Given the description of an element on the screen output the (x, y) to click on. 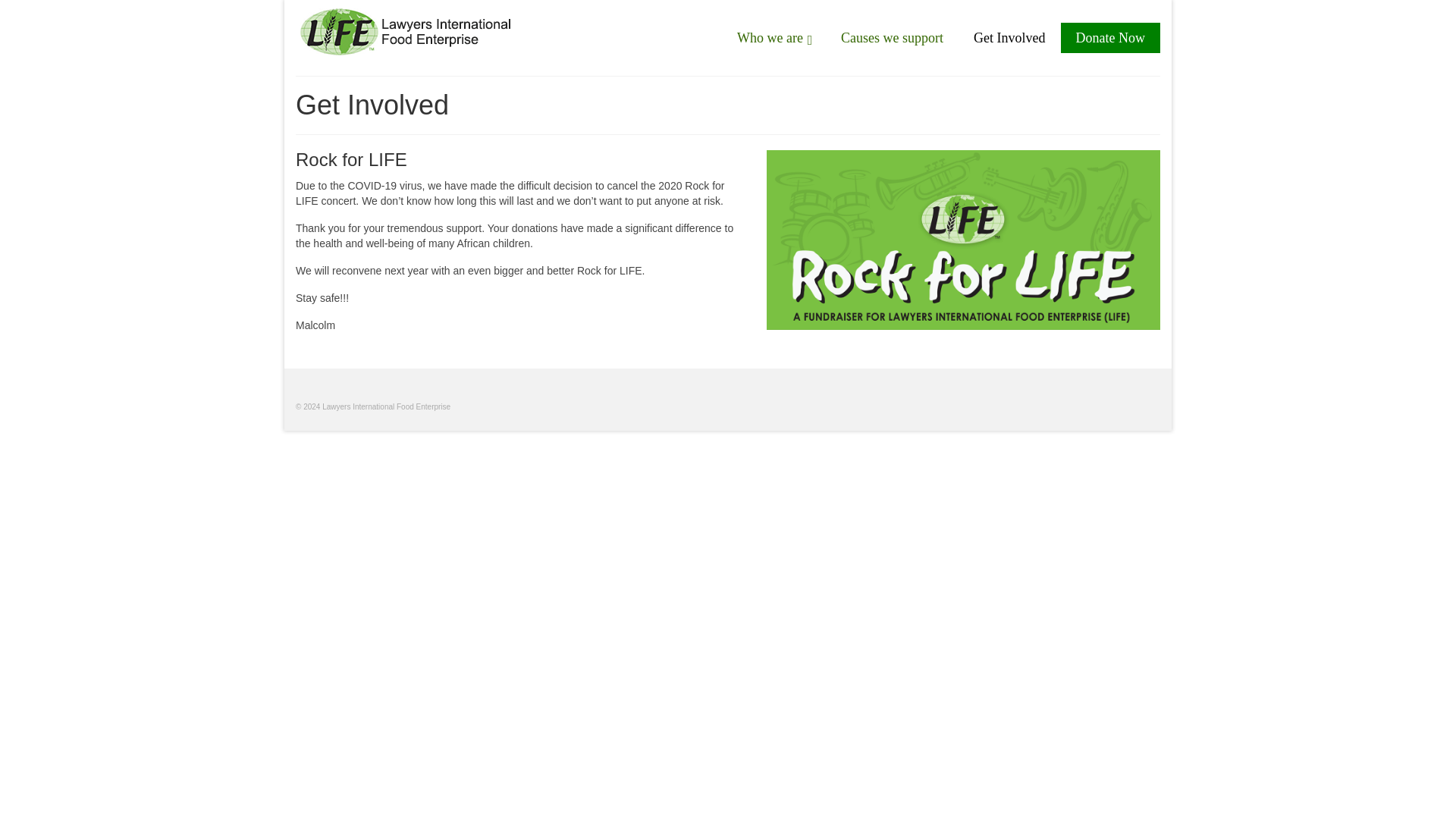
Lawyers International Food Enterprise (429, 31)
Who we are (773, 37)
Get Involved (1008, 37)
Causes we support (891, 37)
Donate Now (1108, 37)
